Given the description of an element on the screen output the (x, y) to click on. 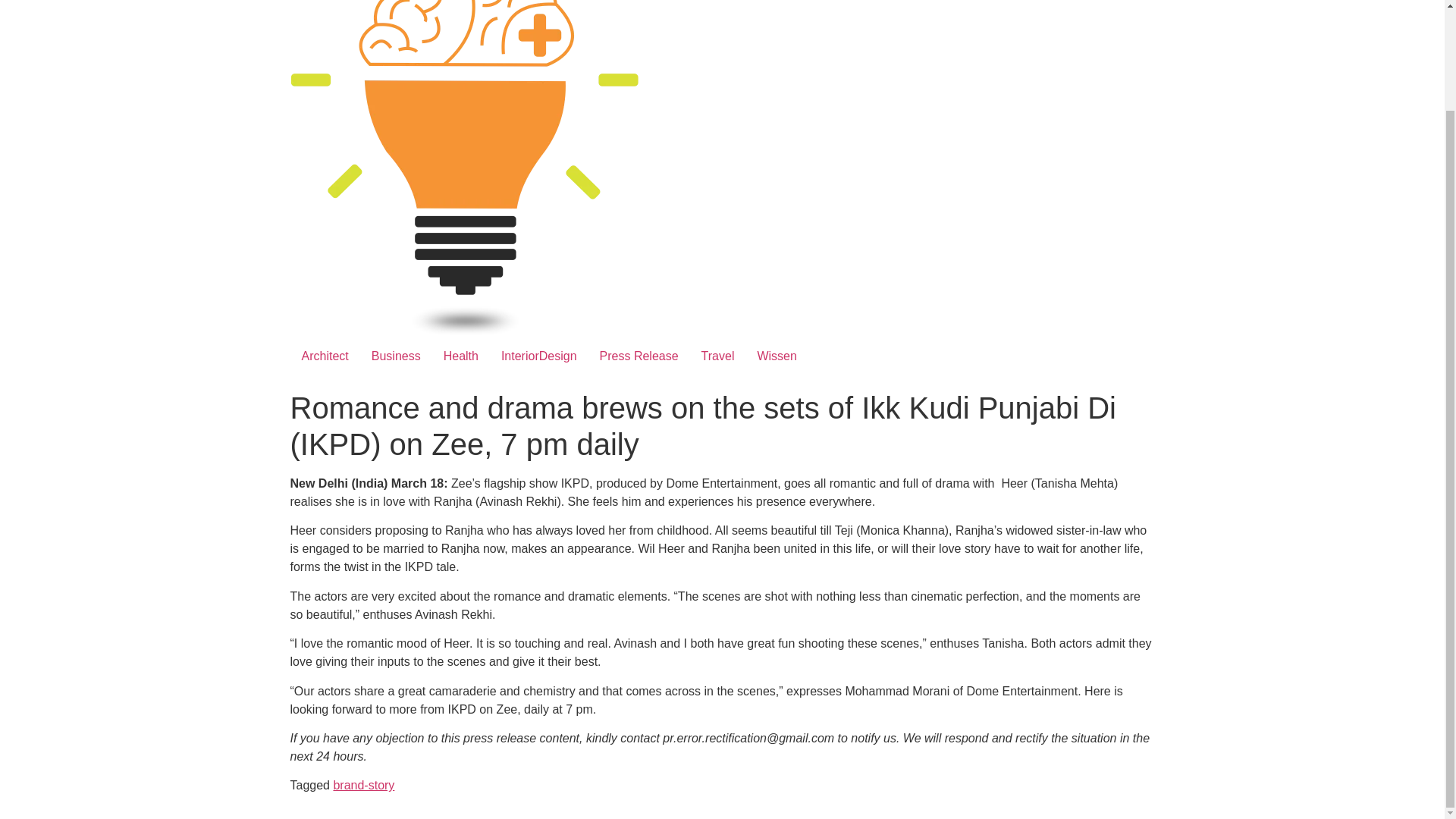
Travel (717, 356)
Architect (324, 356)
Press Release (639, 356)
InteriorDesign (538, 356)
Health (460, 356)
Business (395, 356)
brand-story (363, 784)
Wissen (776, 356)
